Given the description of an element on the screen output the (x, y) to click on. 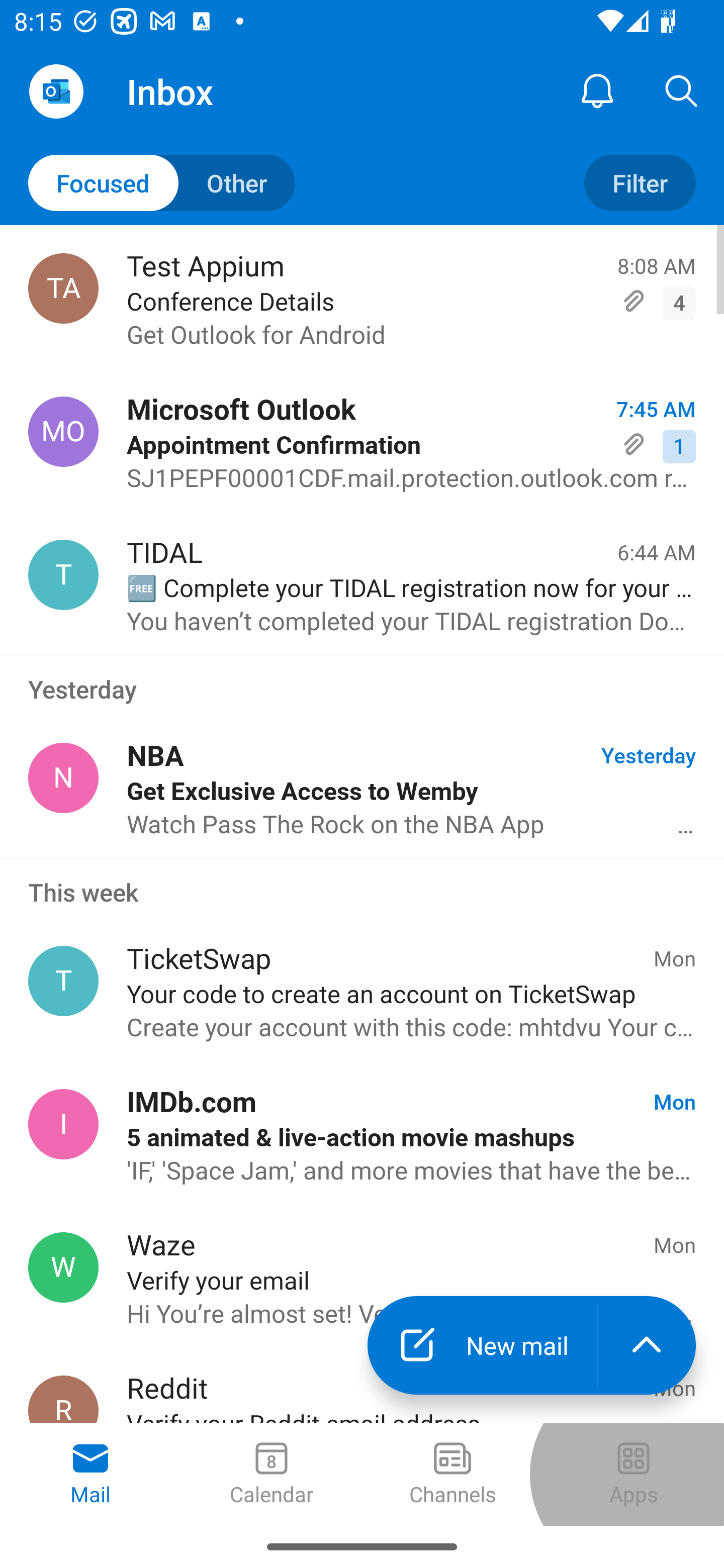
Notification Center (597, 90)
Search, ,  (681, 90)
Open Navigation Drawer (55, 91)
Toggle to other mails (161, 183)
Filter (639, 183)
Test Appium, testappium002@outlook.com (63, 288)
TIDAL, hello@email.tidal.com (63, 574)
NBA, NBA@email.nba.com (63, 778)
TicketSwap, info@ticketswap.com (63, 980)
IMDb.com, do-not-reply@imdb.com (63, 1123)
Waze, noreply@waze.com (63, 1267)
New mail (481, 1344)
launch the extended action menu (646, 1344)
Calendar (271, 1474)
Channels (452, 1474)
Apps (633, 1474)
